Given the description of an element on the screen output the (x, y) to click on. 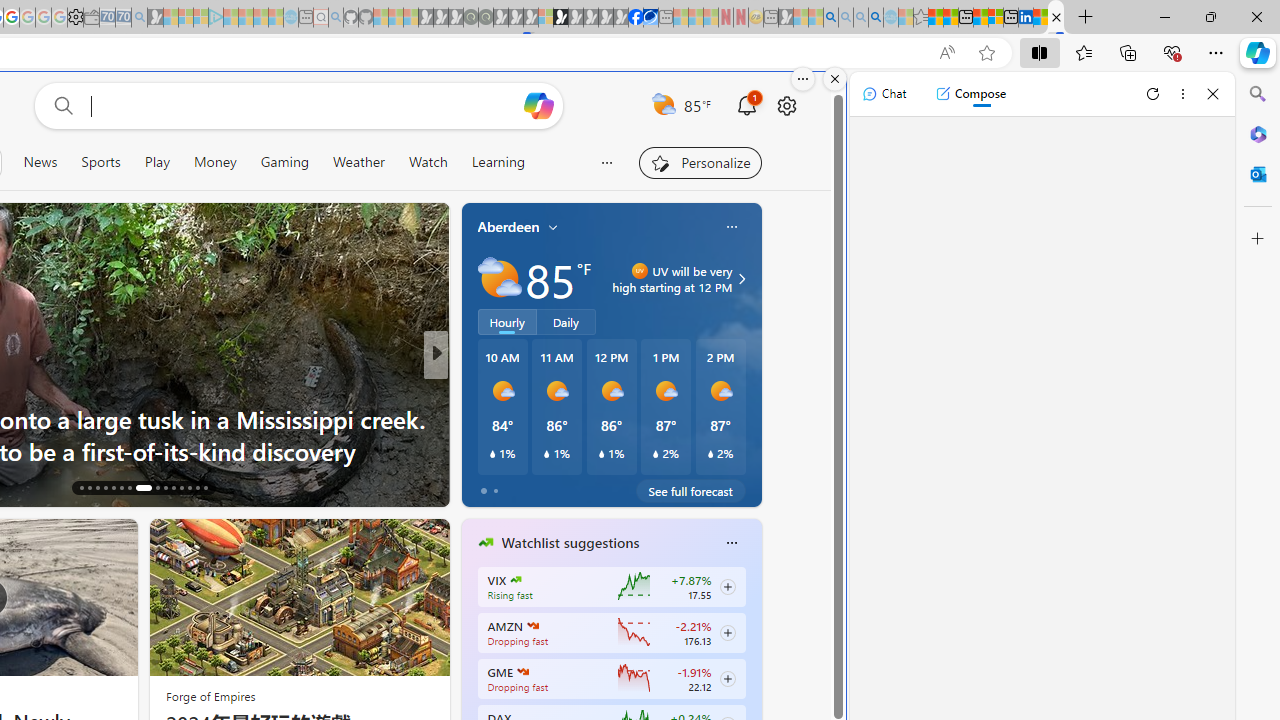
AutomationID: tab-18 (97, 487)
My location (553, 227)
AMAZON.COM, INC. (532, 625)
View comments 5 Comment (568, 485)
Close Outlook pane (1258, 174)
CBOE Market Volatility Index (516, 579)
Class: icon-img (731, 542)
9 Like (484, 486)
Open settings (785, 105)
News (40, 161)
View comments 21 Comment (574, 485)
Microsoft account | Privacy - Sleeping (201, 17)
187 Like (490, 486)
Partly sunny (499, 278)
